Given the description of an element on the screen output the (x, y) to click on. 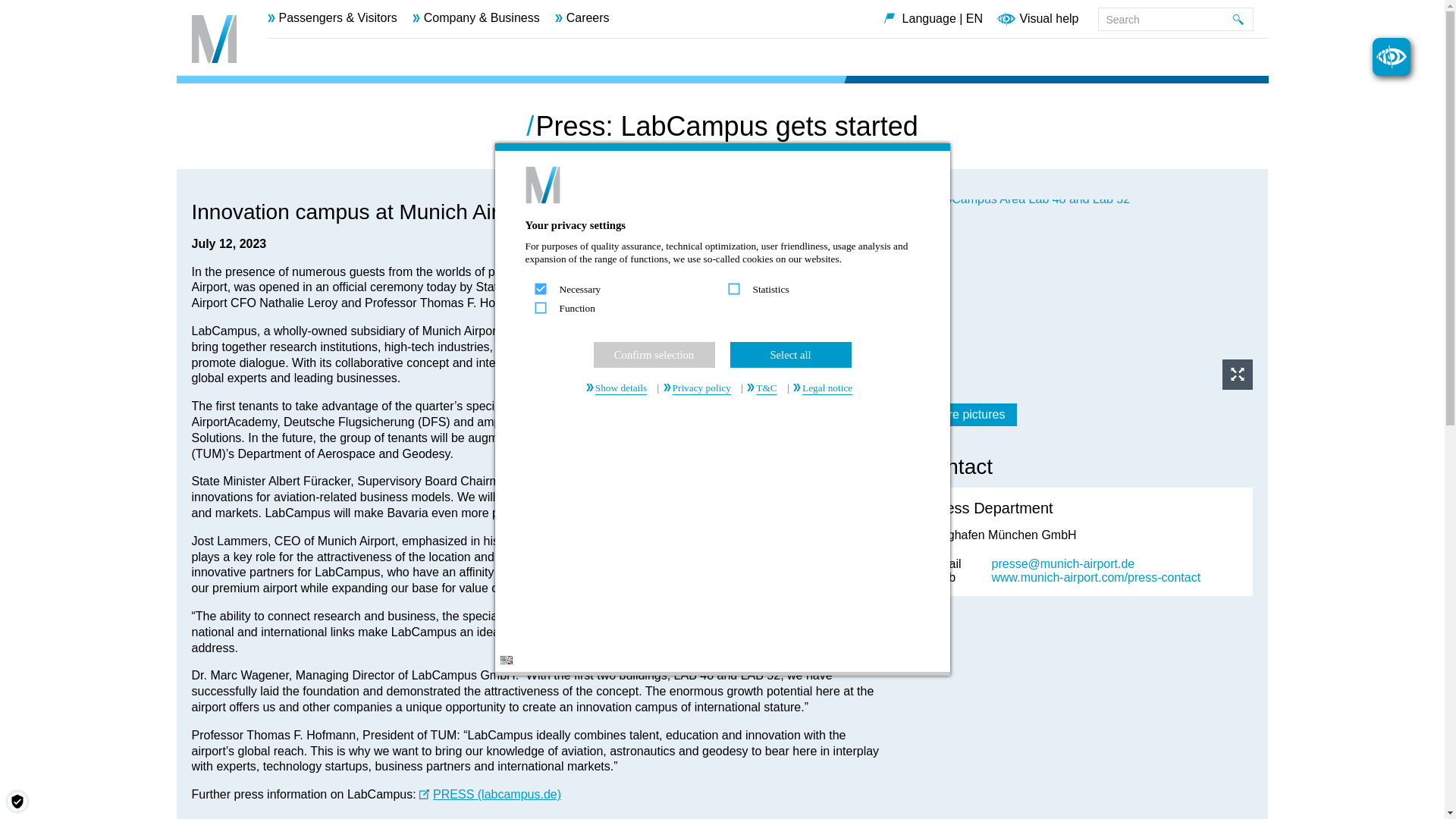
Language: en (506, 660)
LabCampus Area (1085, 294)
Careers (582, 18)
Confirm selection (653, 354)
Munich Airport logo (212, 39)
Show details (620, 387)
Visual help (1048, 20)
Select all (789, 354)
Legal notice (826, 387)
Privacy policy (700, 387)
Purpose (721, 300)
Language: en (506, 659)
